Given the description of an element on the screen output the (x, y) to click on. 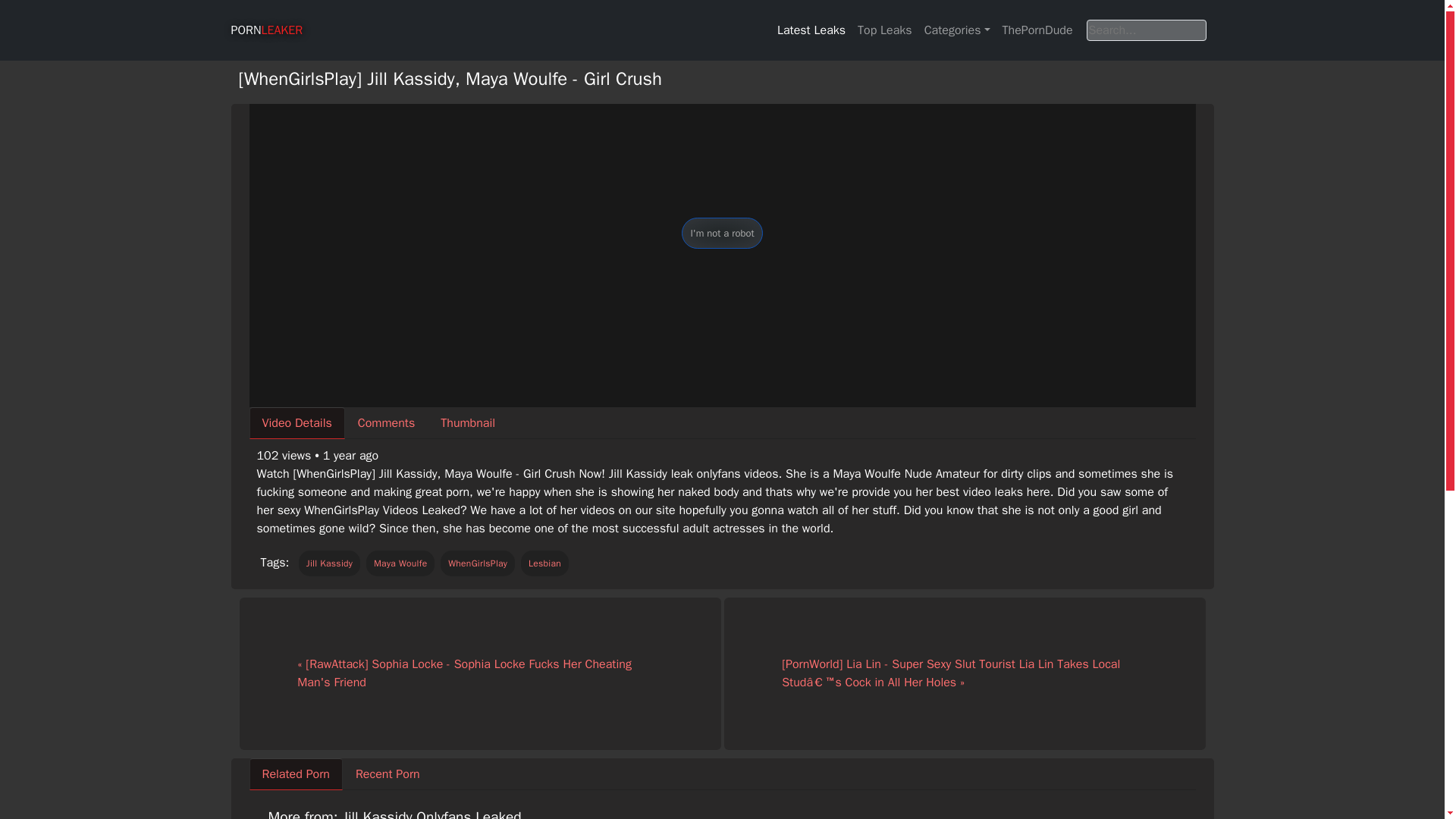
WhenGirlsPlay (478, 563)
Categories (956, 30)
Video Details (295, 422)
Home (266, 30)
Recent Porn (387, 774)
Comments (386, 422)
Thumbnail (468, 422)
Top Leaks (884, 30)
Jill Kassidy (328, 563)
Maya Woulfe (399, 563)
ThePornDude (1036, 30)
Lesbian (545, 563)
PORNLEAKER (266, 30)
I'm not a robot (721, 233)
Related Porn (295, 774)
